Given the description of an element on the screen output the (x, y) to click on. 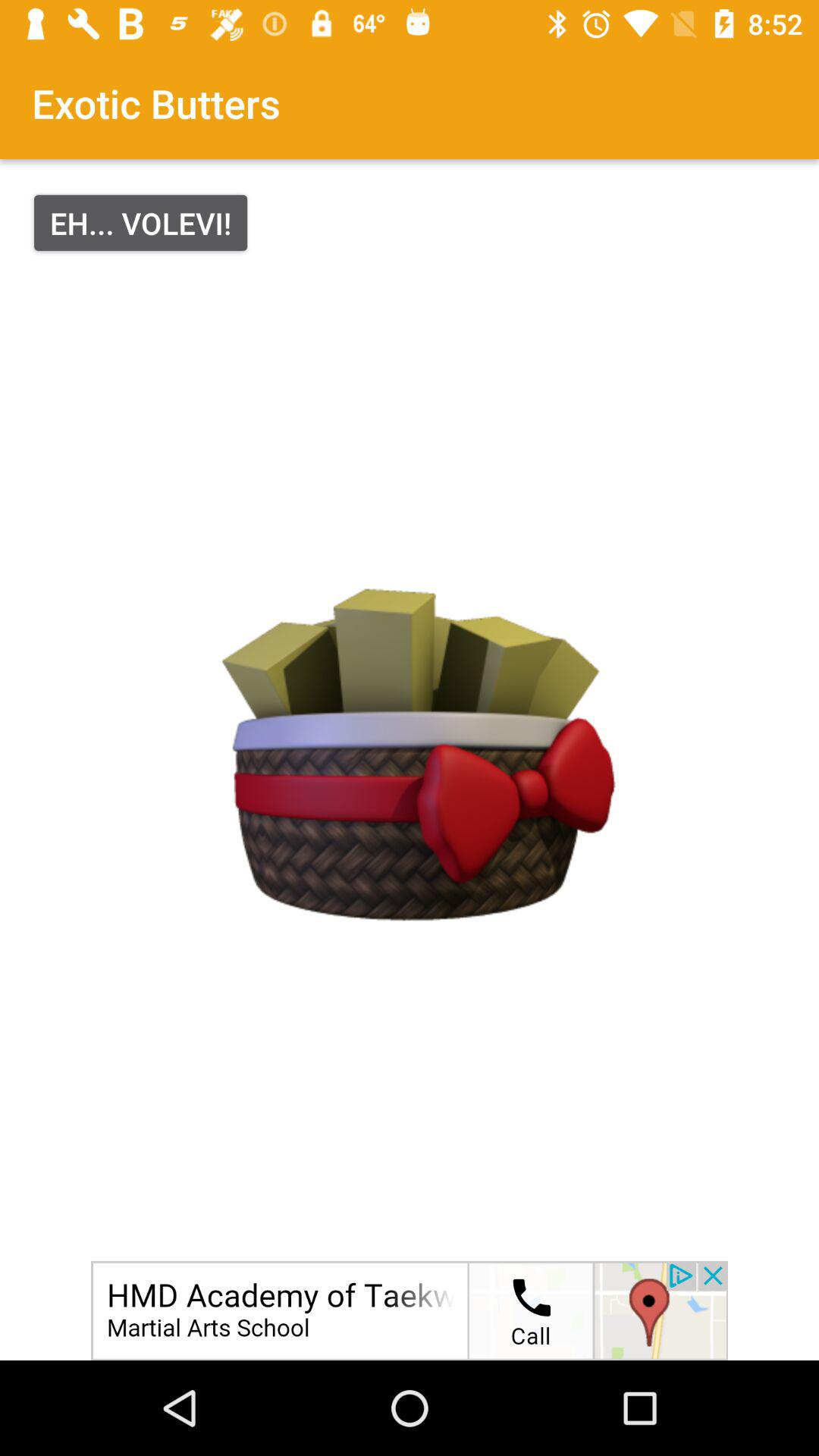
advertisement (409, 1310)
